Given the description of an element on the screen output the (x, y) to click on. 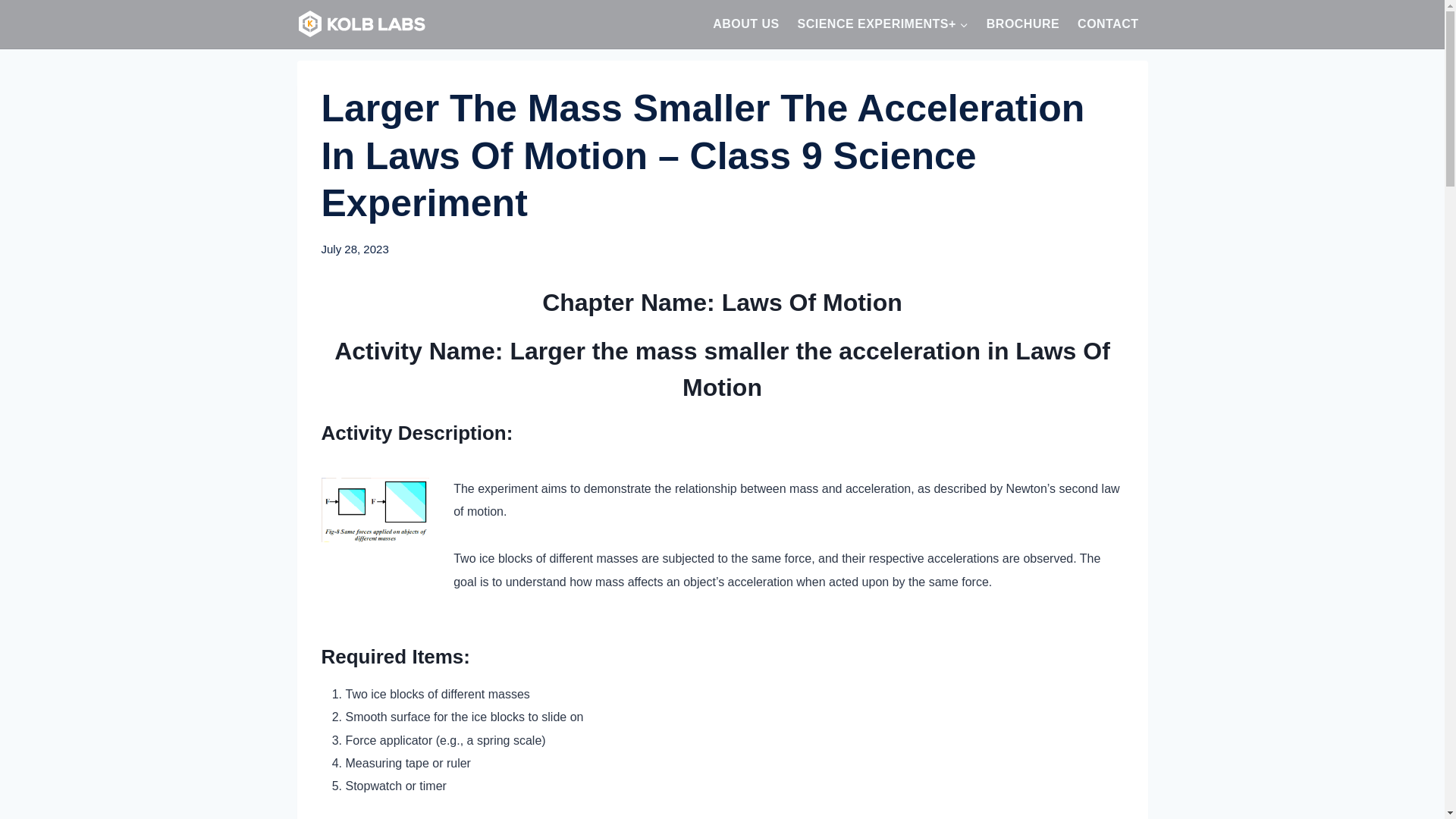
ABOUT US (745, 24)
BROCHURE (1022, 24)
CONTACT (1107, 24)
